Given the description of an element on the screen output the (x, y) to click on. 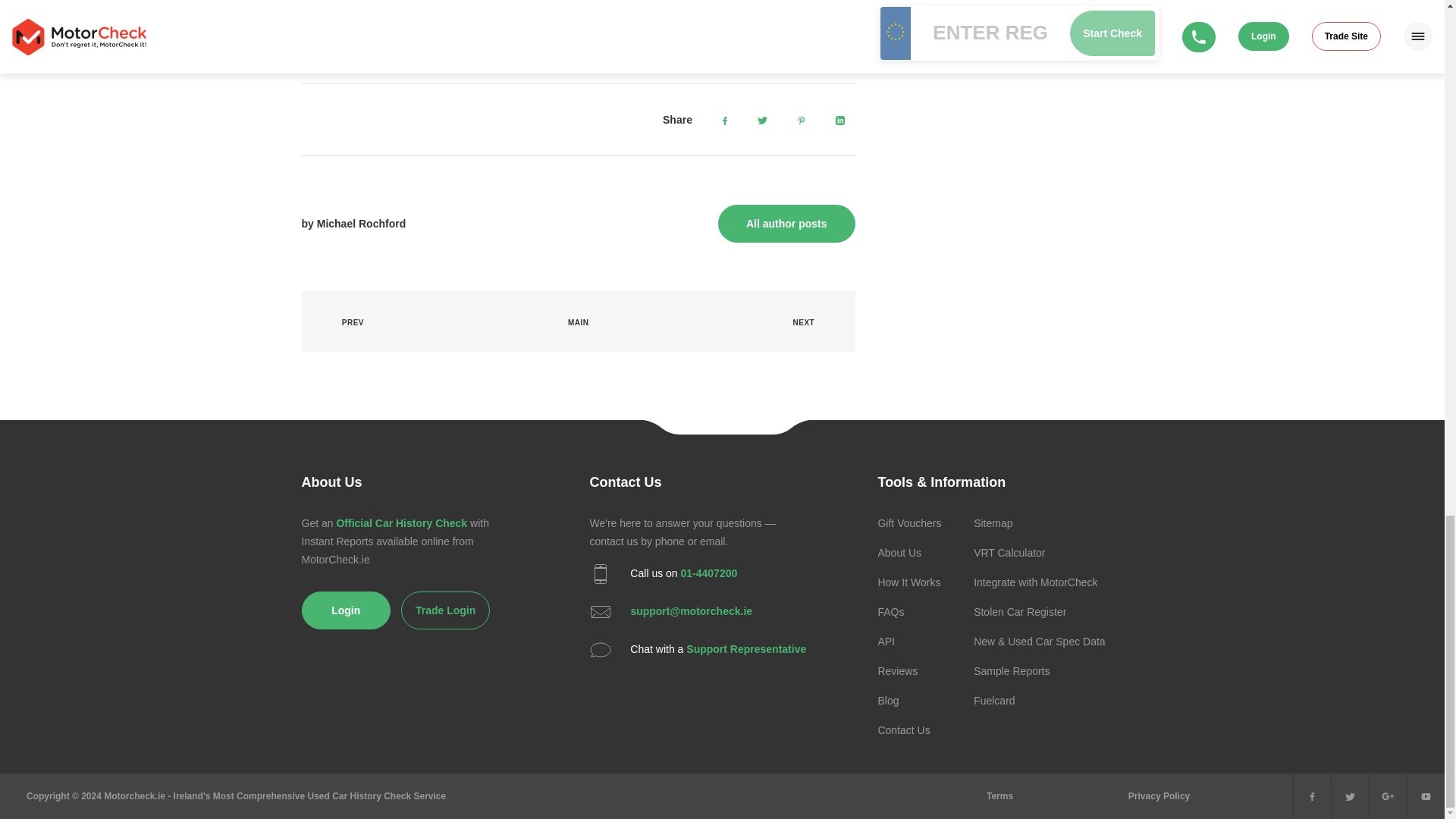
MAIN (578, 322)
All author posts (786, 223)
PREV (344, 322)
NEXT (812, 322)
